Given the description of an element on the screen output the (x, y) to click on. 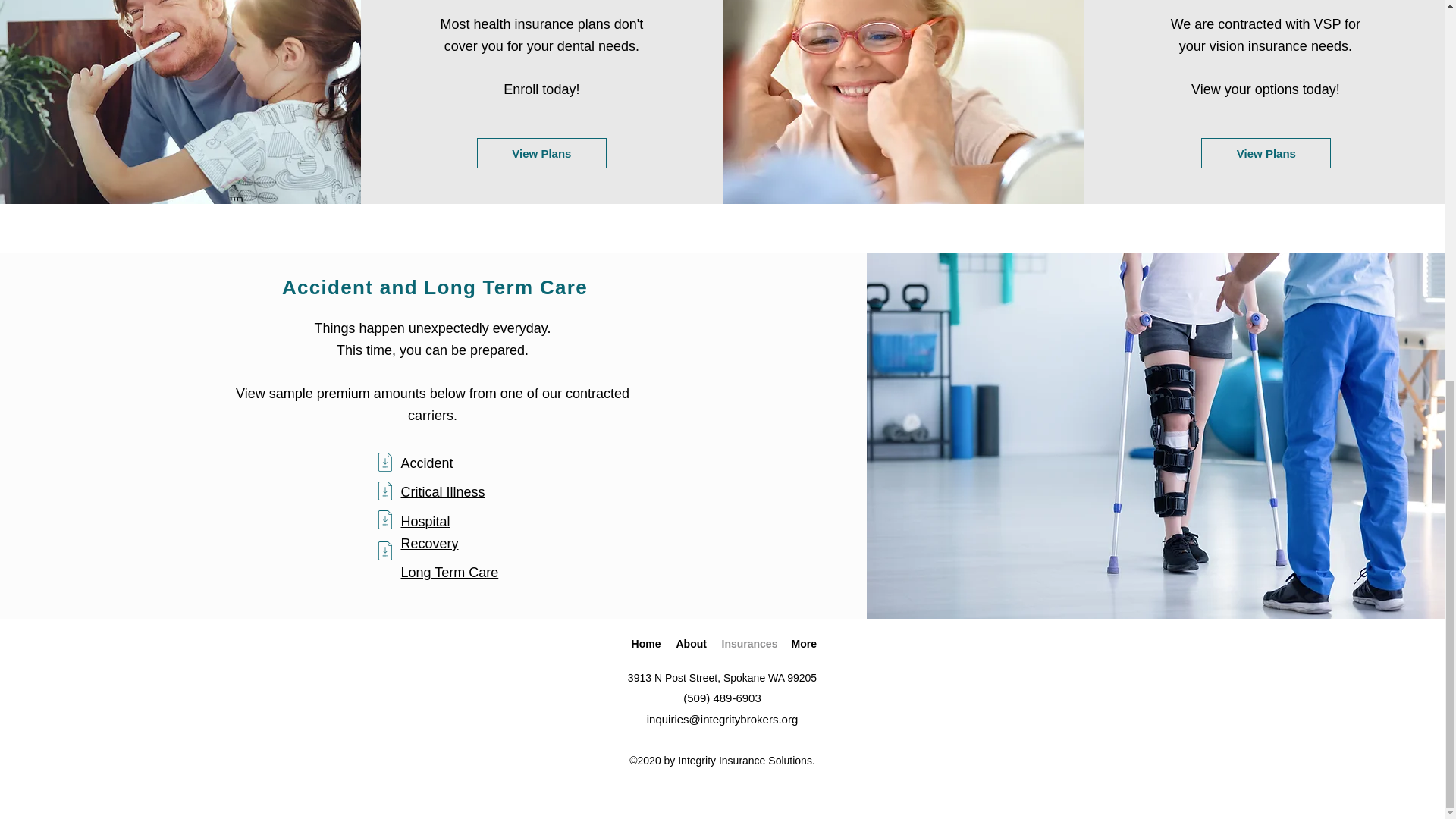
Accident (426, 462)
View Plans (1265, 153)
Insurances (749, 643)
Hospital Recovery (429, 532)
View Plans (542, 153)
Critical Illness (442, 491)
Long Term Care (448, 572)
About (691, 643)
Home (645, 643)
